Given the description of an element on the screen output the (x, y) to click on. 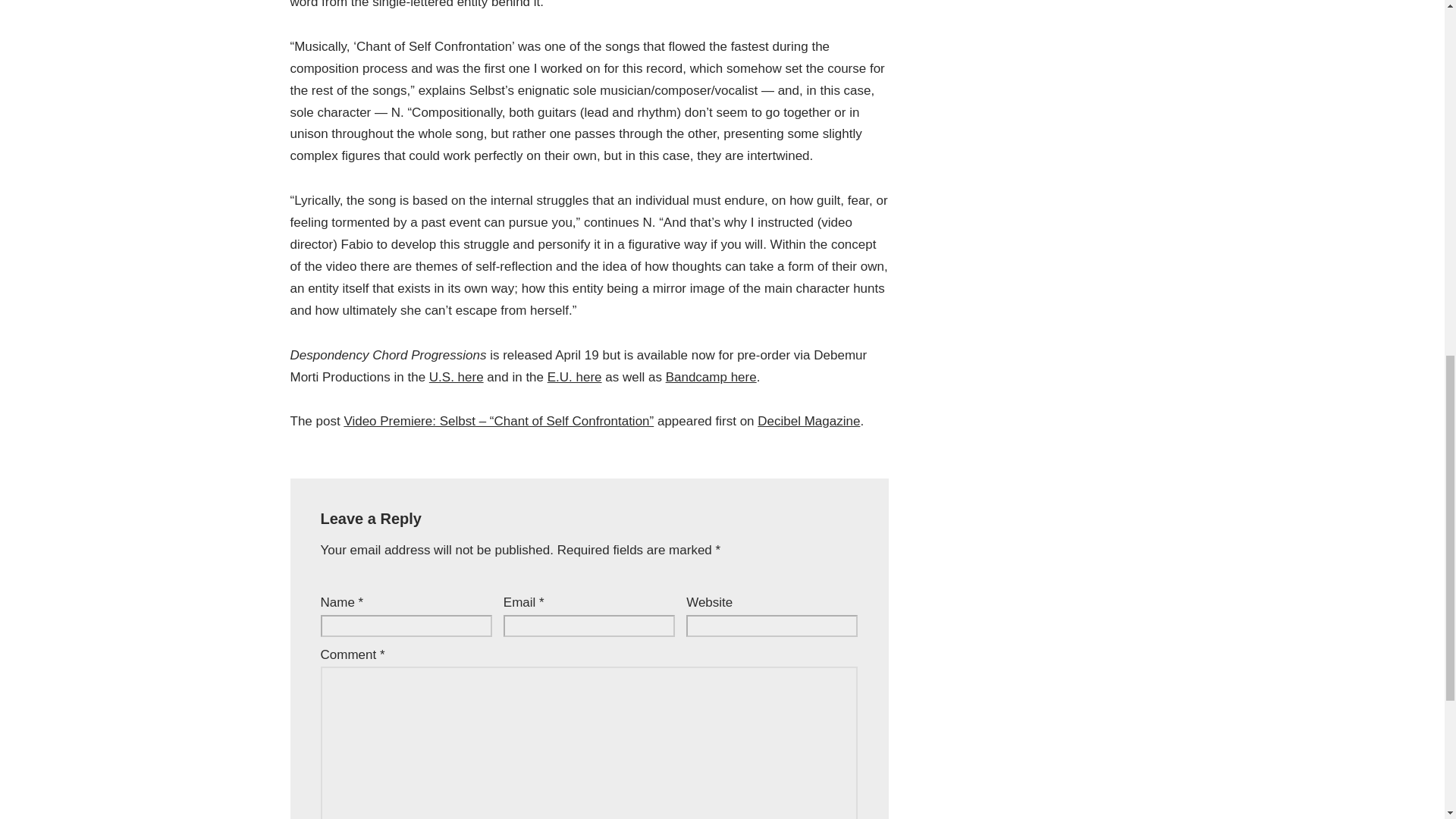
E.U. here (574, 377)
Decibel Magazine (808, 421)
U.S. here (456, 377)
Bandcamp here (711, 377)
